Given the description of an element on the screen output the (x, y) to click on. 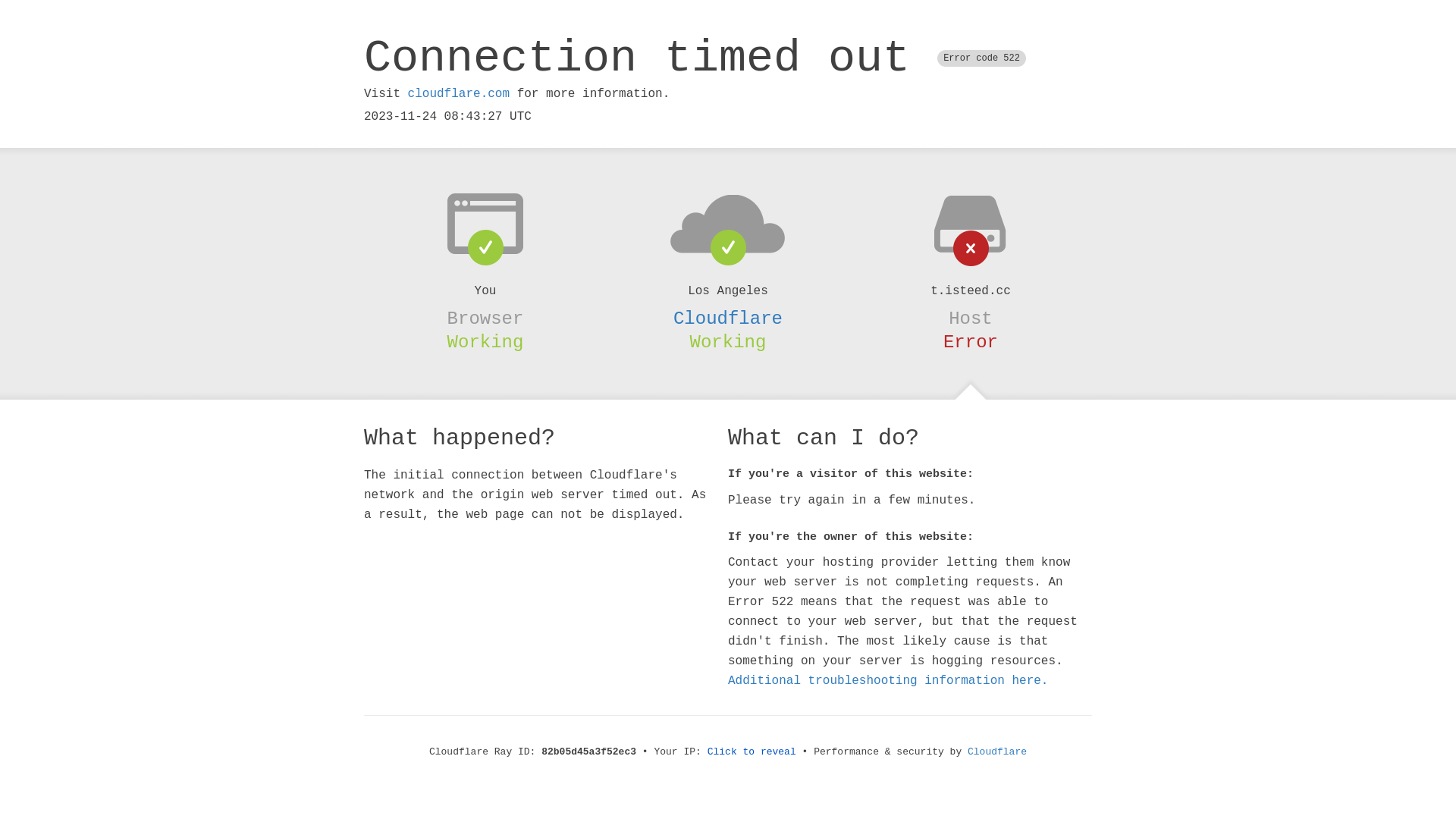
Cloudflare Element type: text (727, 318)
Cloudflare Element type: text (996, 751)
Additional troubleshooting information here. Element type: text (888, 680)
cloudflare.com Element type: text (458, 93)
Click to reveal Element type: text (751, 751)
